Given the description of an element on the screen output the (x, y) to click on. 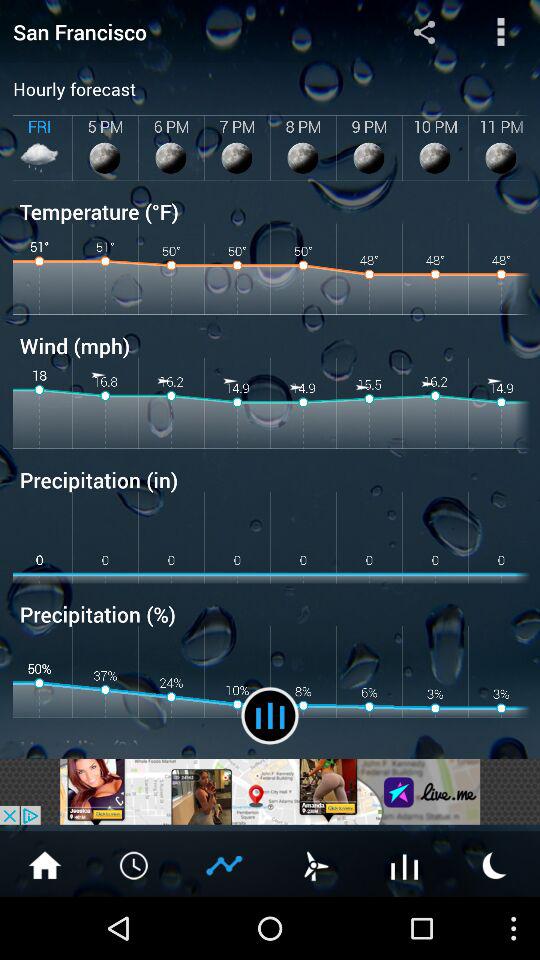
press the icon next to the humidity (%) icon (269, 715)
